Given the description of an element on the screen output the (x, y) to click on. 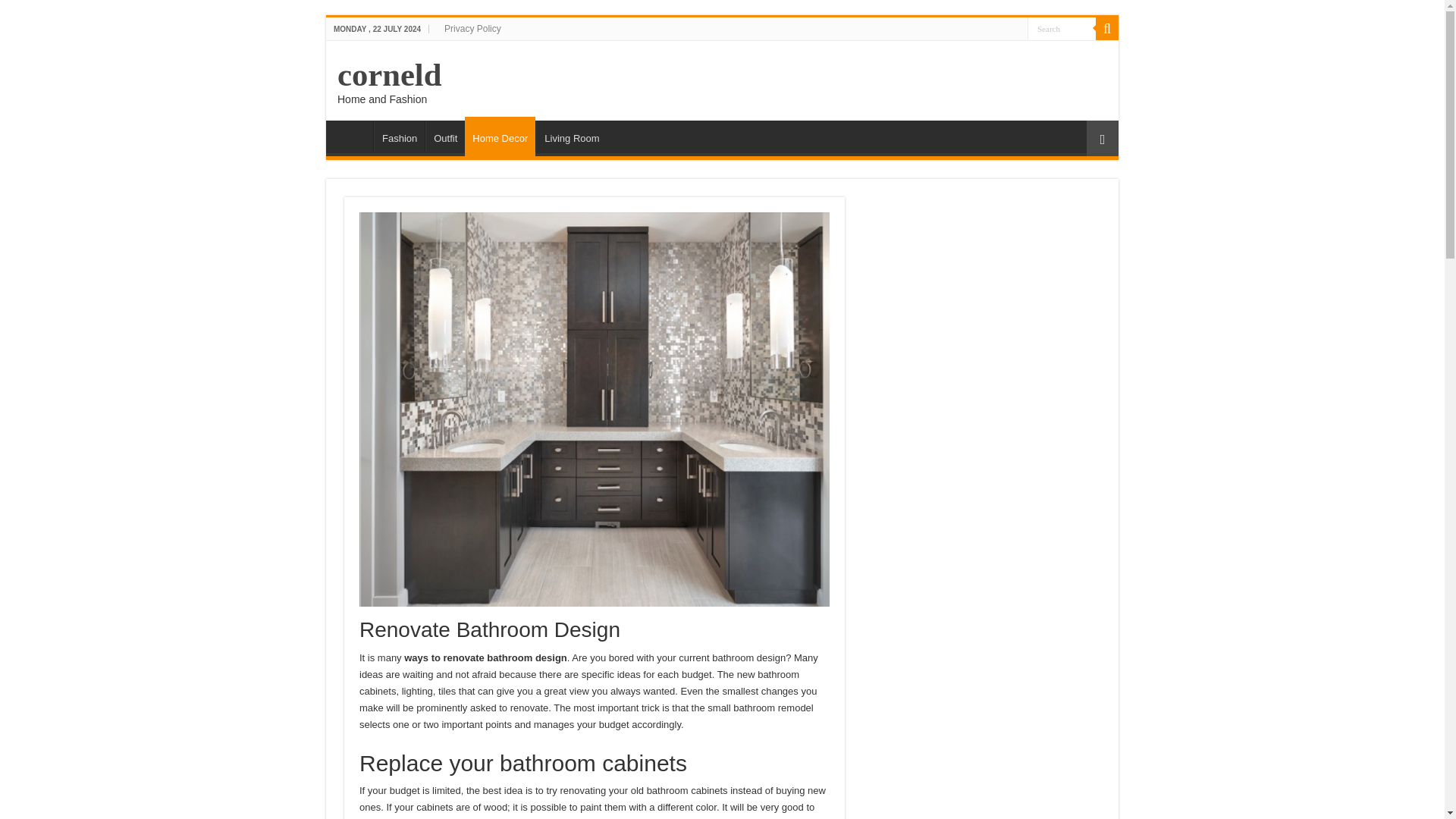
Home (352, 136)
Fashion (399, 136)
Home Decor (499, 136)
Search (1061, 28)
Search (1061, 28)
Search (1061, 28)
Living Room (571, 136)
Search (1107, 28)
Outfit (444, 136)
Privacy Policy (472, 28)
corneld (389, 74)
Random Article (1102, 138)
